Given the description of an element on the screen output the (x, y) to click on. 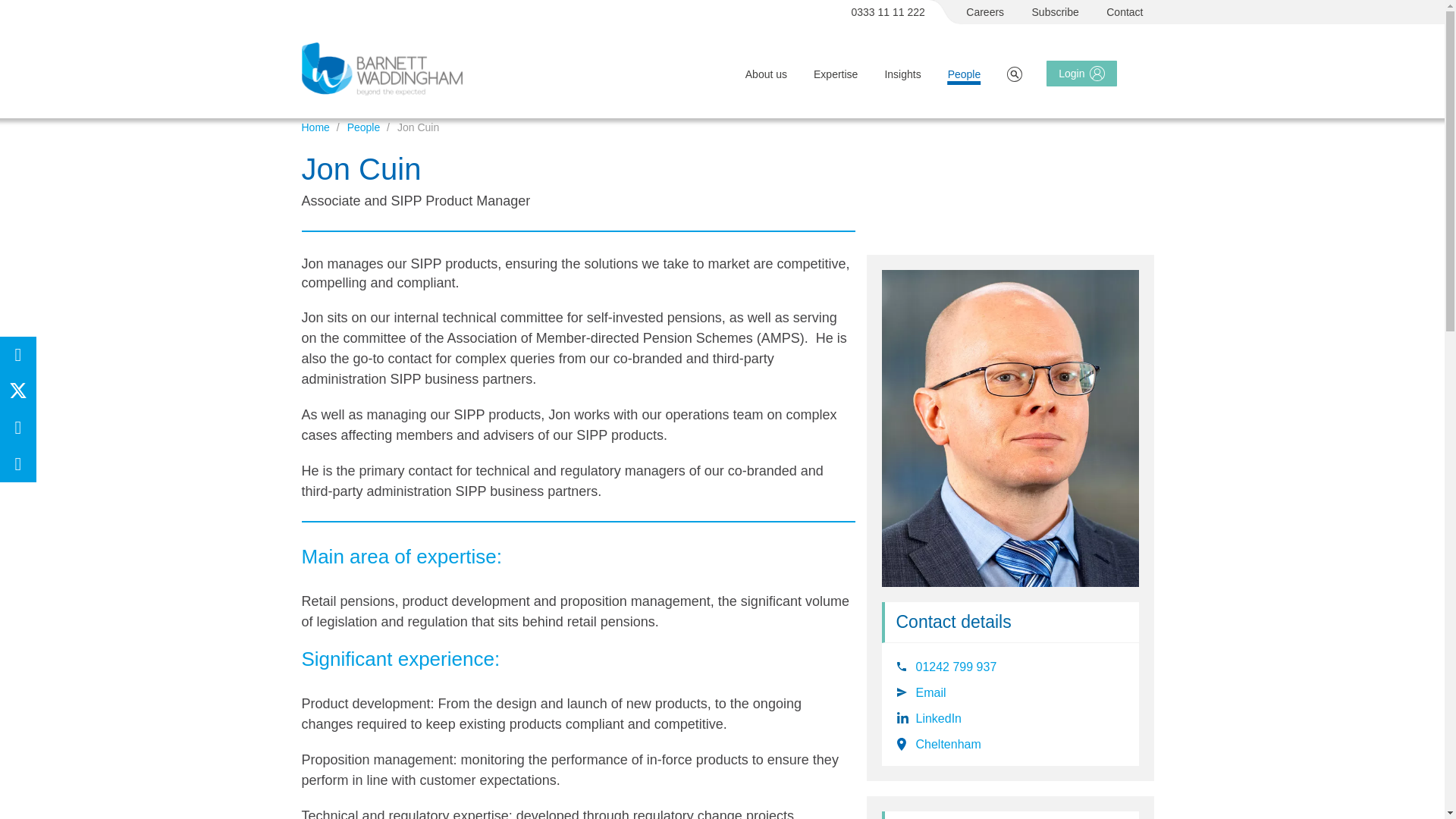
Expertise (835, 73)
Subscribe (1055, 12)
Careers (985, 12)
0333 11 11 222 (889, 12)
About us (766, 73)
Contact (1124, 12)
